Given the description of an element on the screen output the (x, y) to click on. 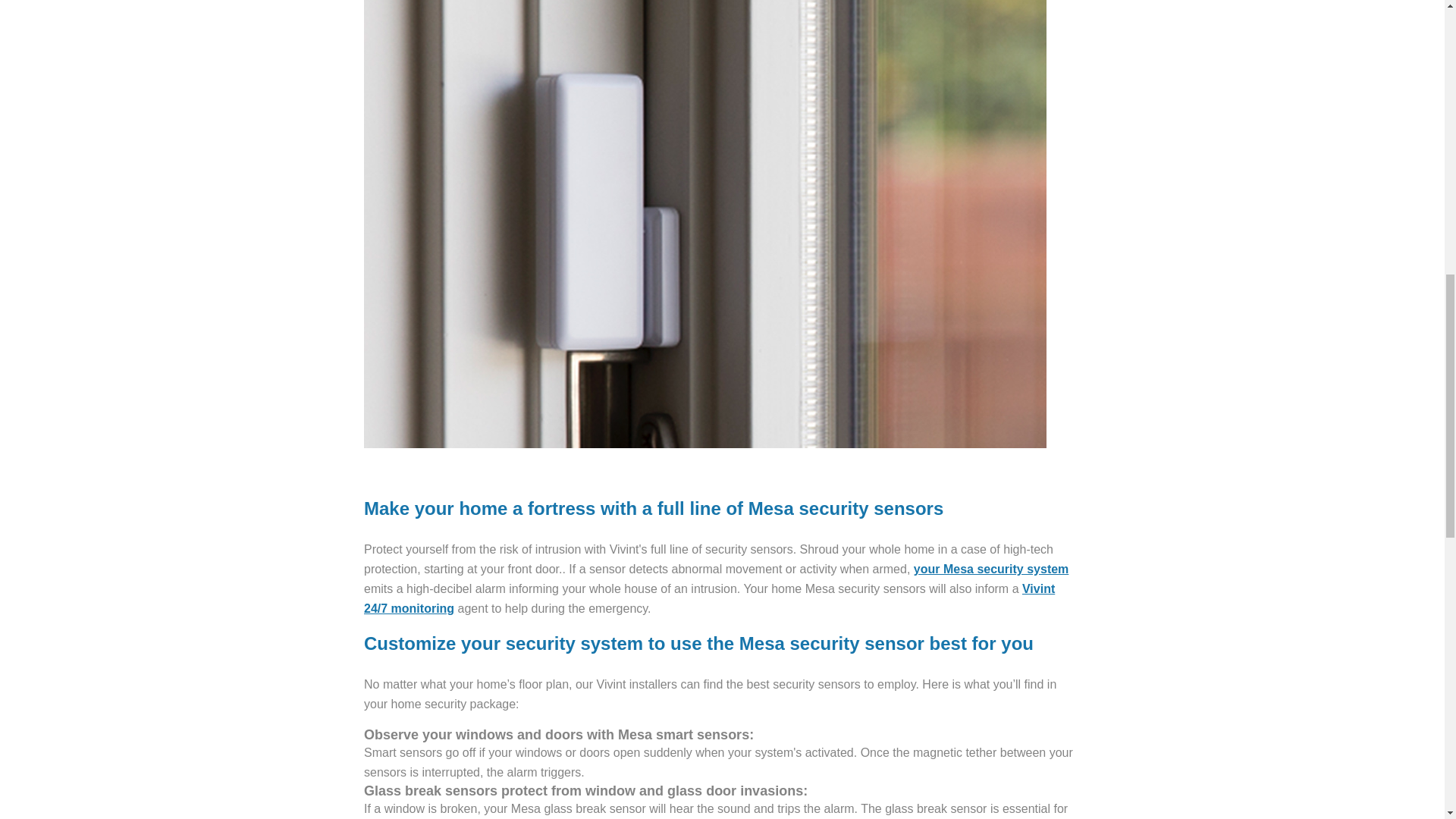
Mesa Home Security System (991, 568)
your Mesa security system (991, 568)
